Given the description of an element on the screen output the (x, y) to click on. 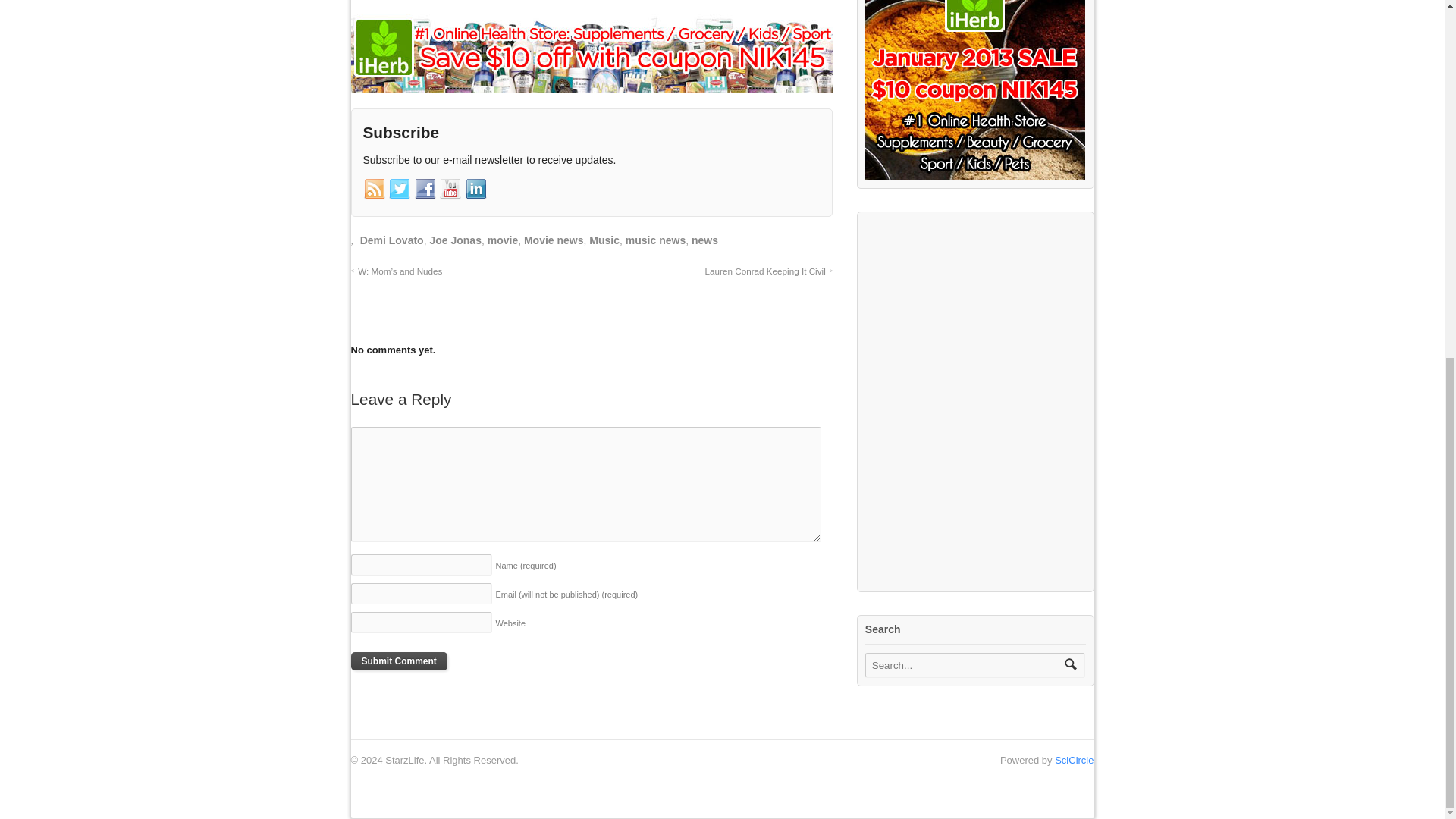
Submit Comment (398, 660)
Joe Jonas (454, 240)
Lauren Conrad Keeping It Civil (768, 271)
Twitter (399, 189)
LinkedIn (475, 189)
Search... (965, 665)
movie (502, 240)
Music (604, 240)
news (704, 240)
YouTube (450, 189)
